Given the description of an element on the screen output the (x, y) to click on. 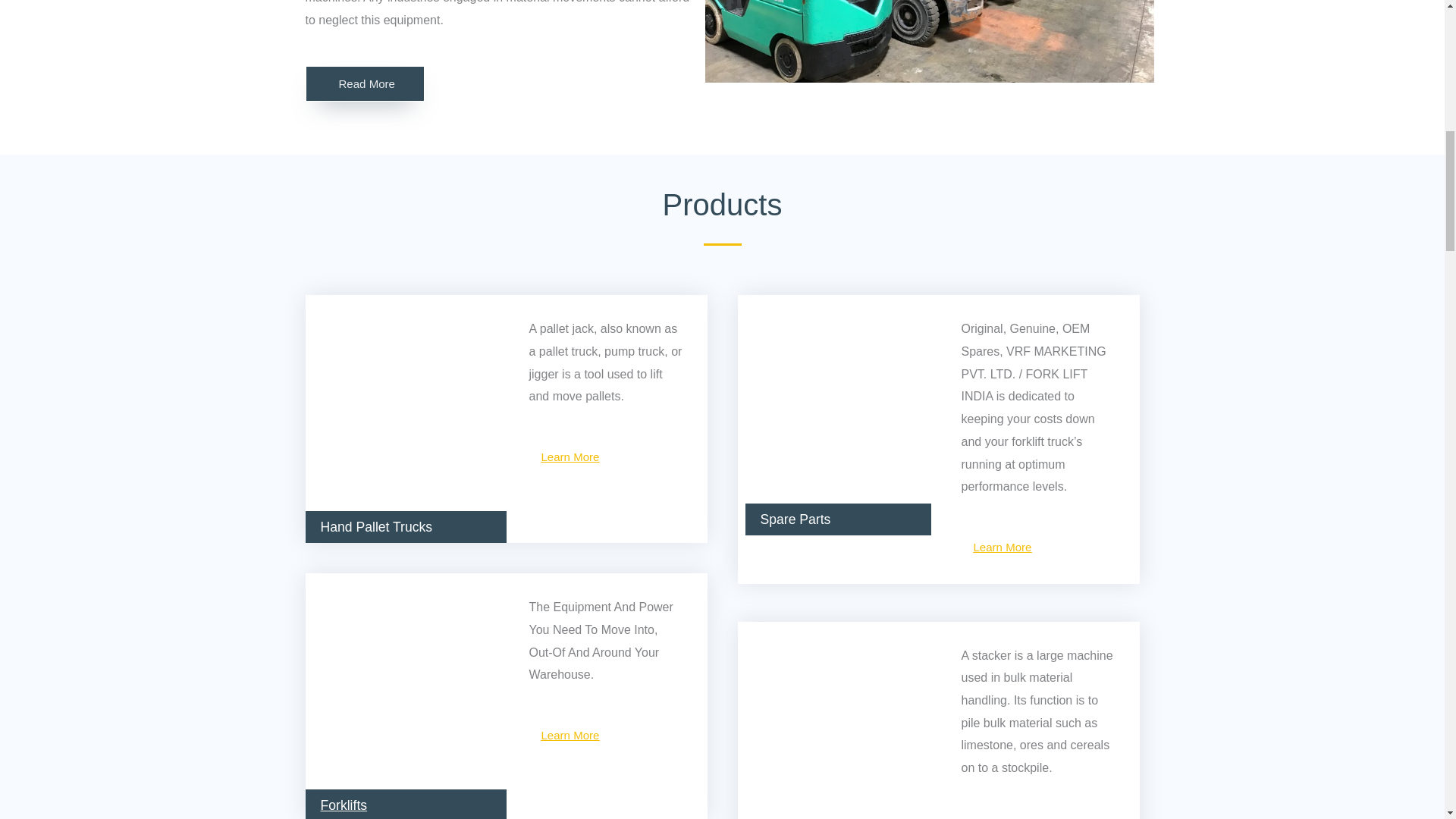
Read More (363, 83)
Learn More (568, 456)
